Given the description of an element on the screen output the (x, y) to click on. 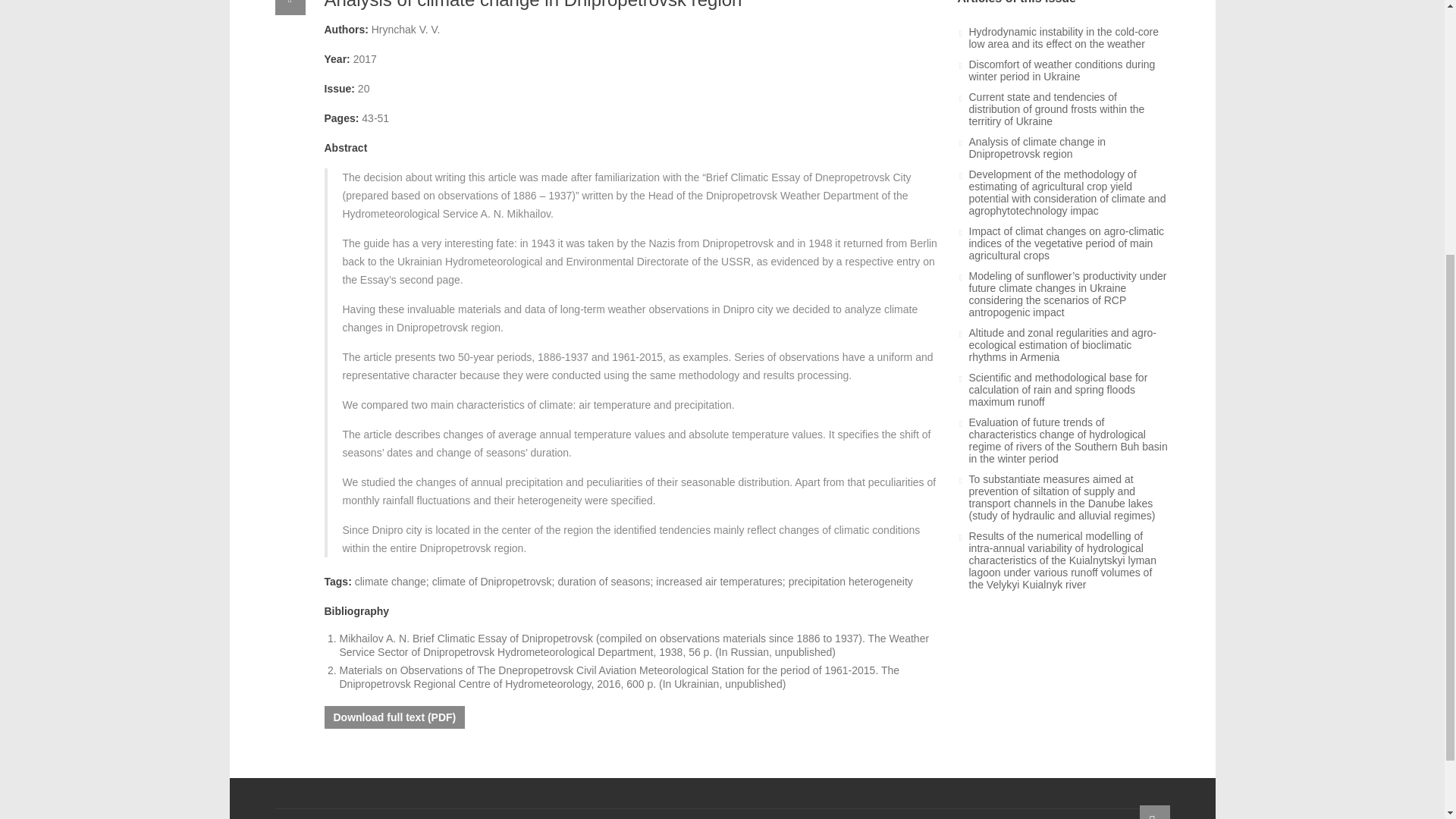
Analysis of climate change in Dnipropetrovsk region (1069, 147)
Analysis of climate change in Dnipropetrovsk region (533, 4)
